Given the description of an element on the screen output the (x, y) to click on. 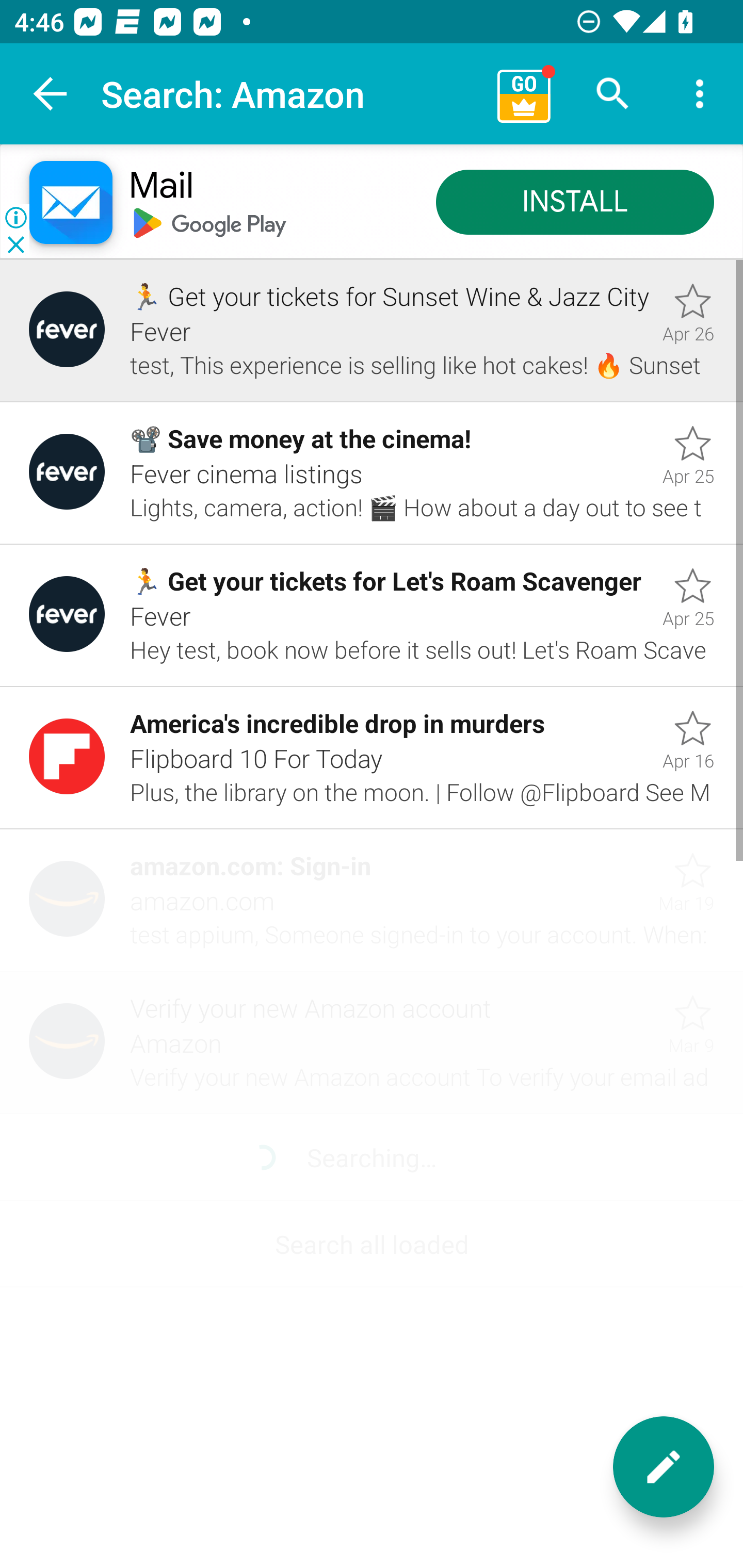
Navigate up (50, 93)
Search (612, 93)
More options (699, 93)
